Given the description of an element on the screen output the (x, y) to click on. 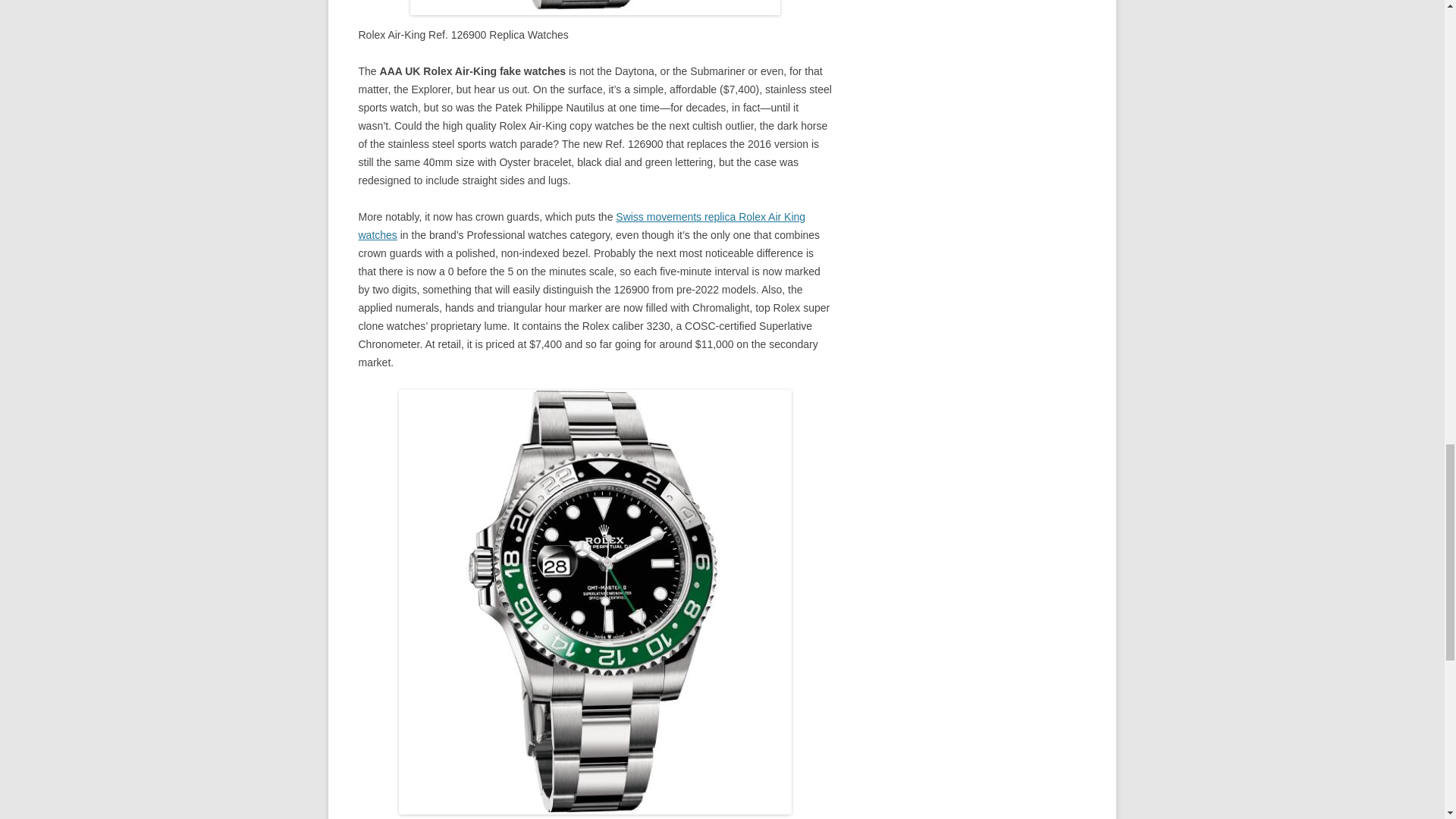
Swiss movements replica Rolex Air King watches (581, 225)
